Given the description of an element on the screen output the (x, y) to click on. 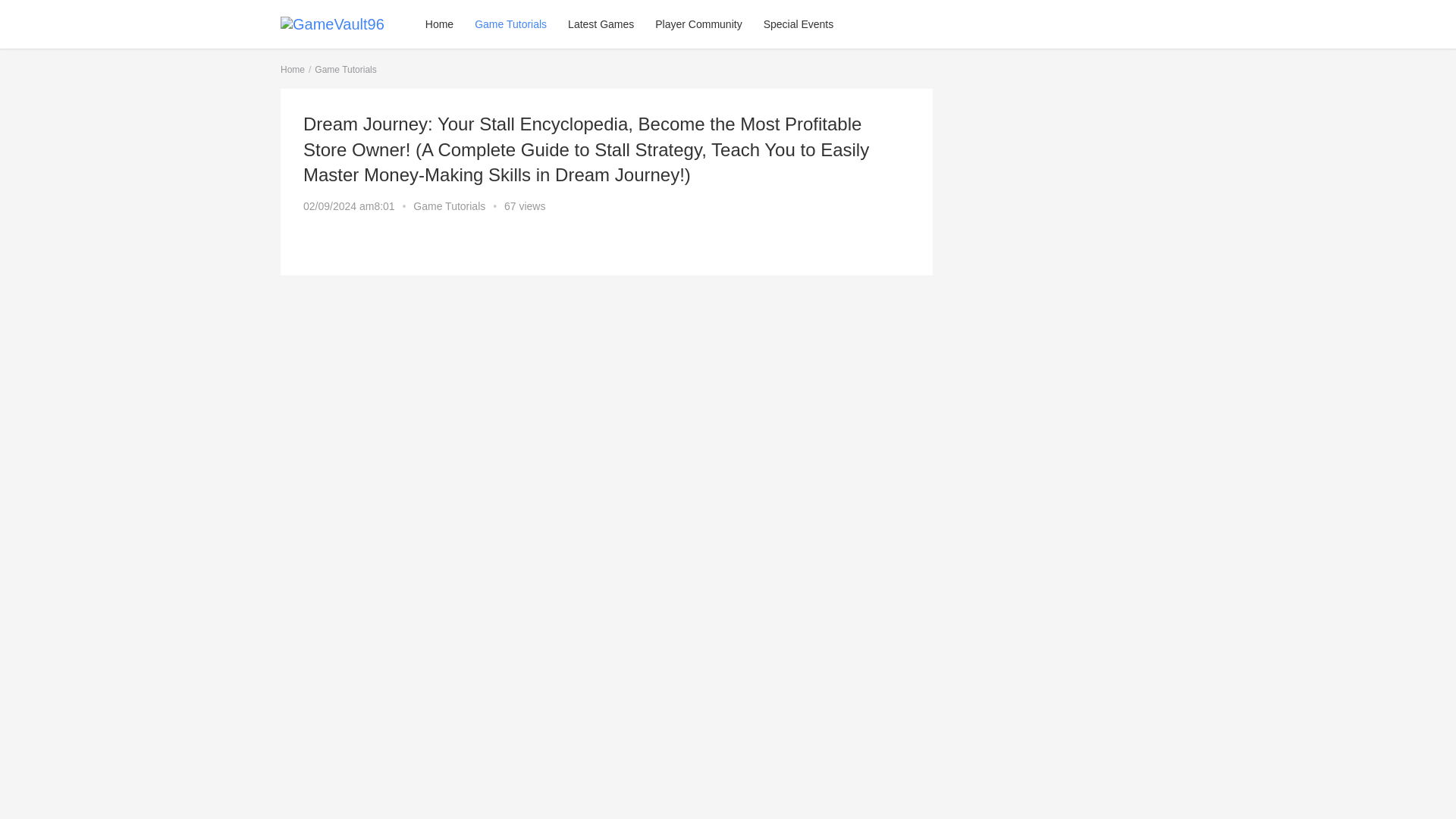
Home (439, 24)
Player Community (698, 24)
Home (292, 69)
Latest Games (601, 24)
Game Tutorials (510, 24)
Game Tutorials (344, 69)
Game Tutorials (448, 205)
Special Events (798, 24)
